Given the description of an element on the screen output the (x, y) to click on. 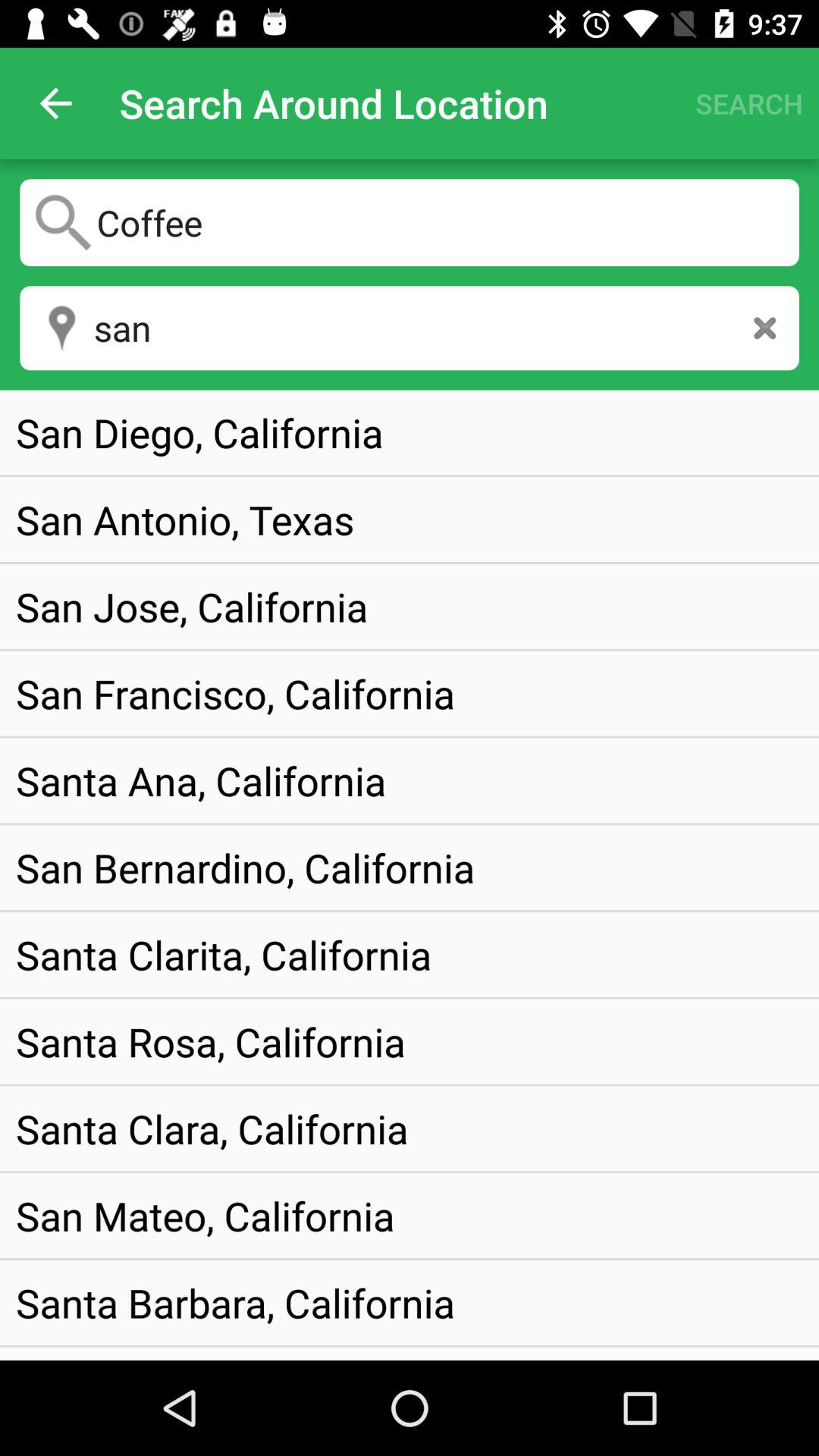
open the icon above santa clarita, california icon (245, 867)
